Given the description of an element on the screen output the (x, y) to click on. 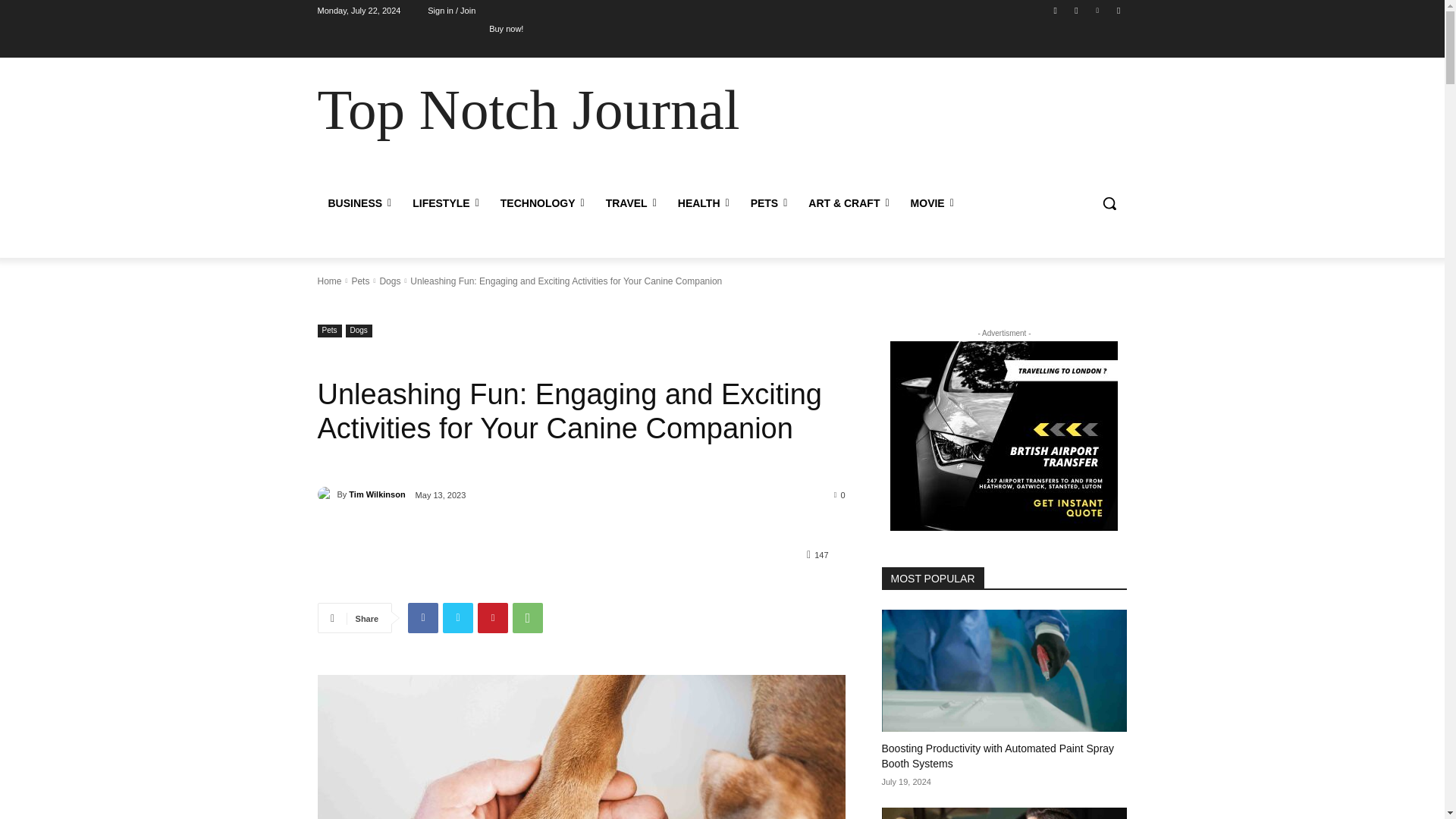
Twitter (1117, 9)
View all posts in Pets (359, 281)
View all posts in Dogs (389, 281)
Linkedin (1097, 9)
Instagram (1075, 9)
Facebook (1055, 9)
